Given the description of an element on the screen output the (x, y) to click on. 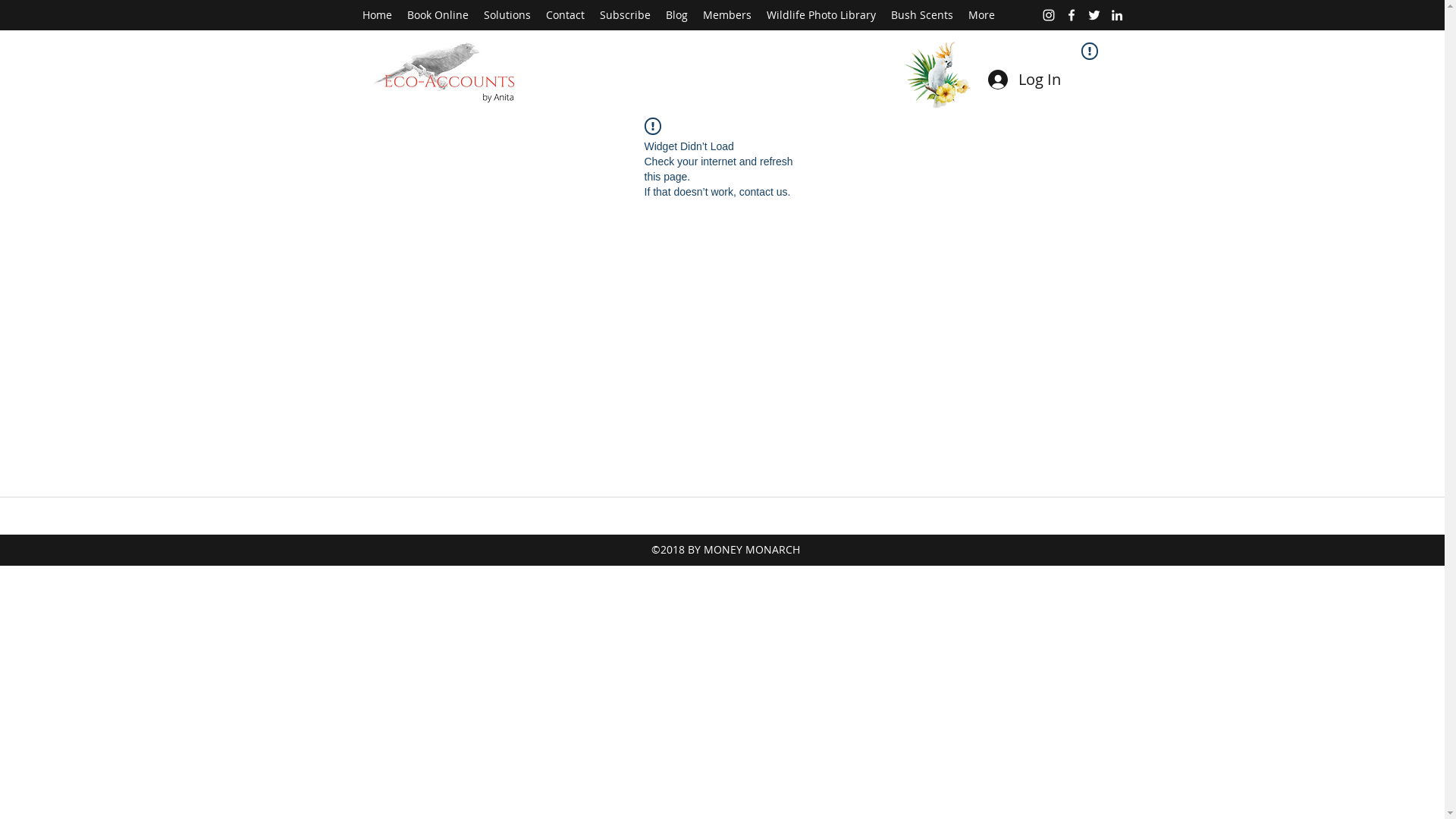
Log In Element type: text (1021, 79)
Solutions Element type: text (507, 14)
Blog Element type: text (676, 14)
Contact Element type: text (565, 14)
Bush Scents Element type: text (921, 14)
Members Element type: text (726, 14)
Wildlife Photo Library Element type: text (820, 14)
Book Online Element type: text (436, 14)
Home Element type: text (376, 14)
Subscribe Element type: text (624, 14)
